Given the description of an element on the screen output the (x, y) to click on. 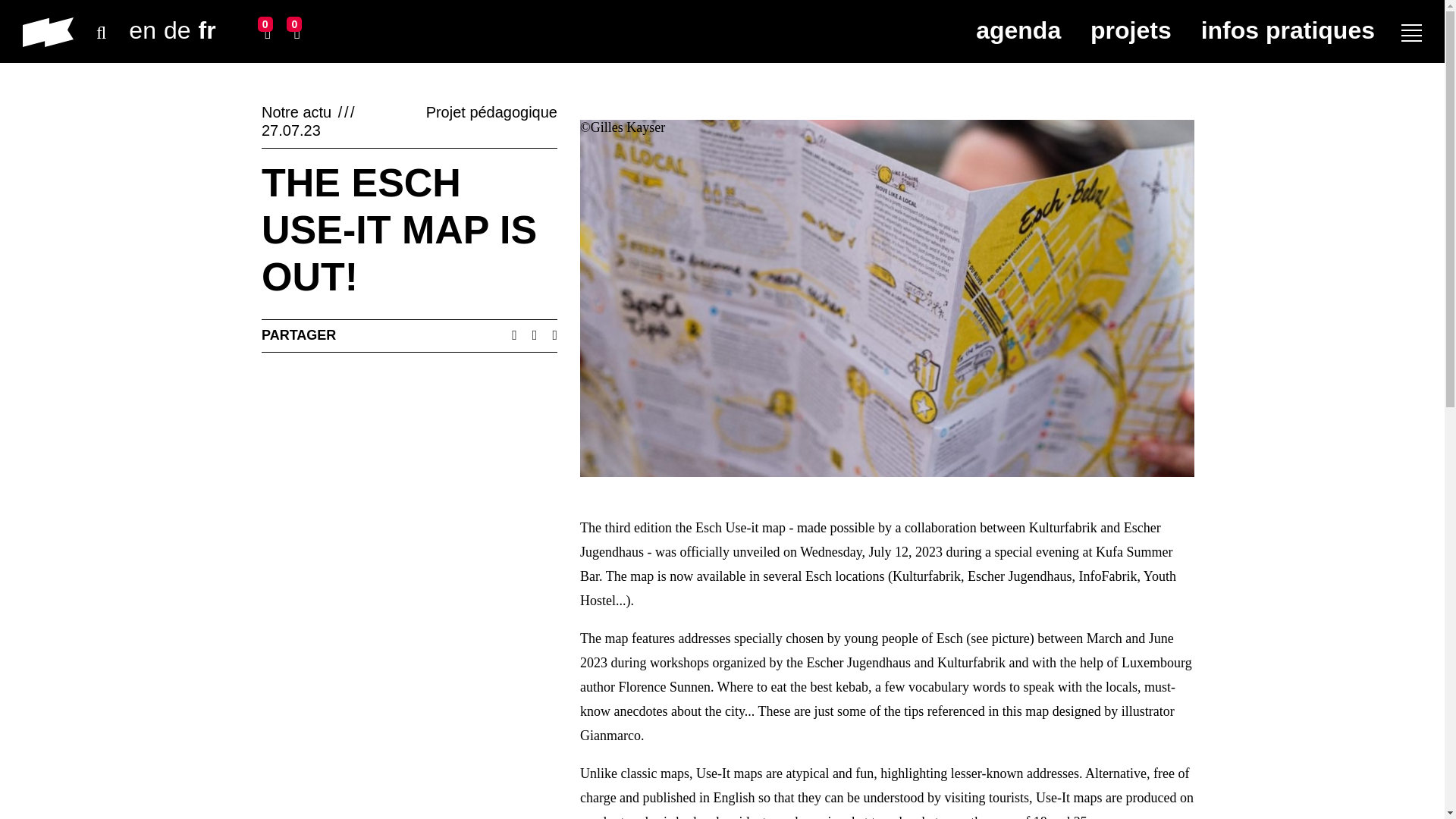
en (142, 30)
infos pratiques (1287, 30)
agenda (1018, 30)
de (176, 30)
projets (1131, 30)
